Given the description of an element on the screen output the (x, y) to click on. 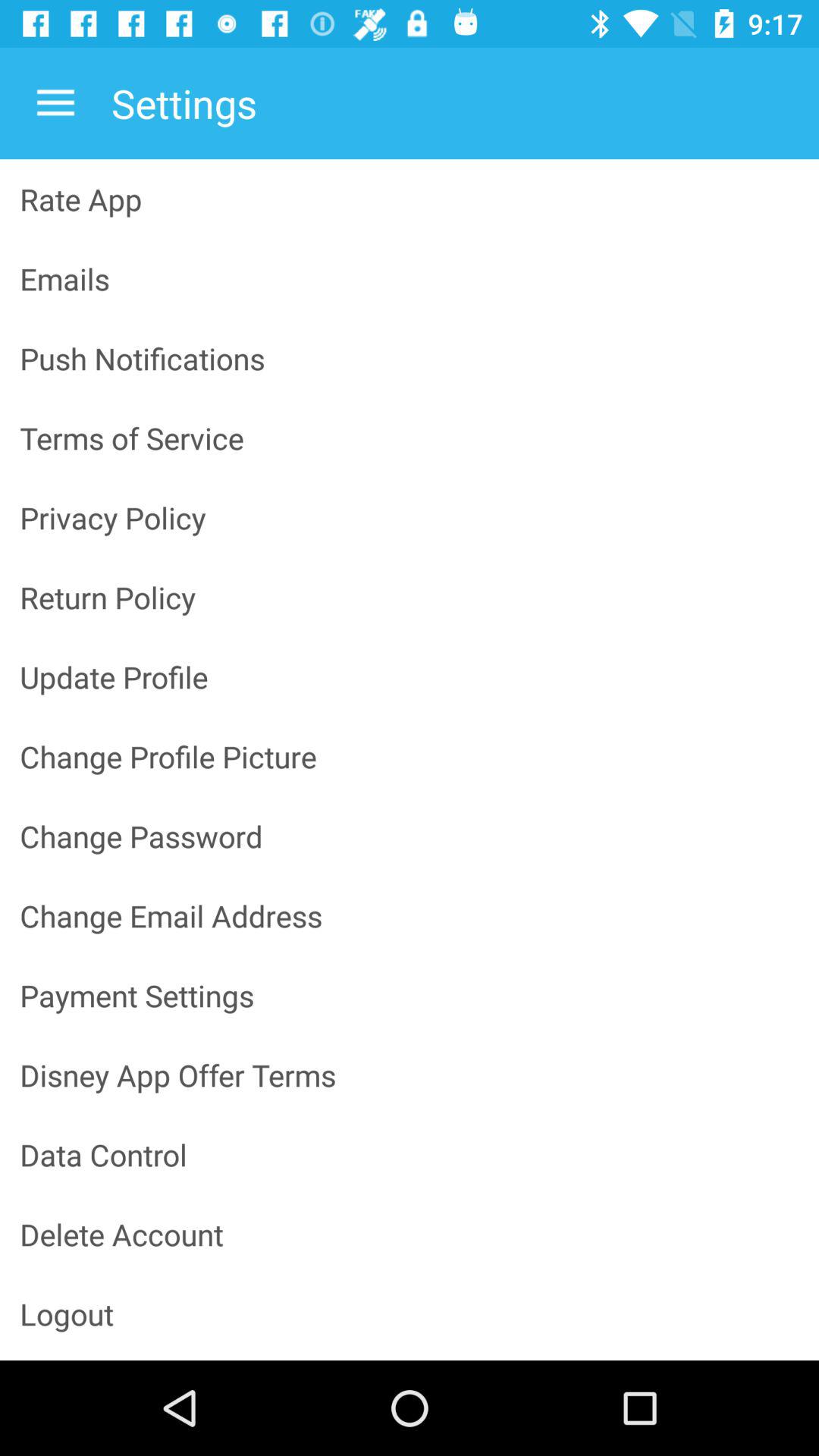
scroll to push notifications icon (409, 358)
